Given the description of an element on the screen output the (x, y) to click on. 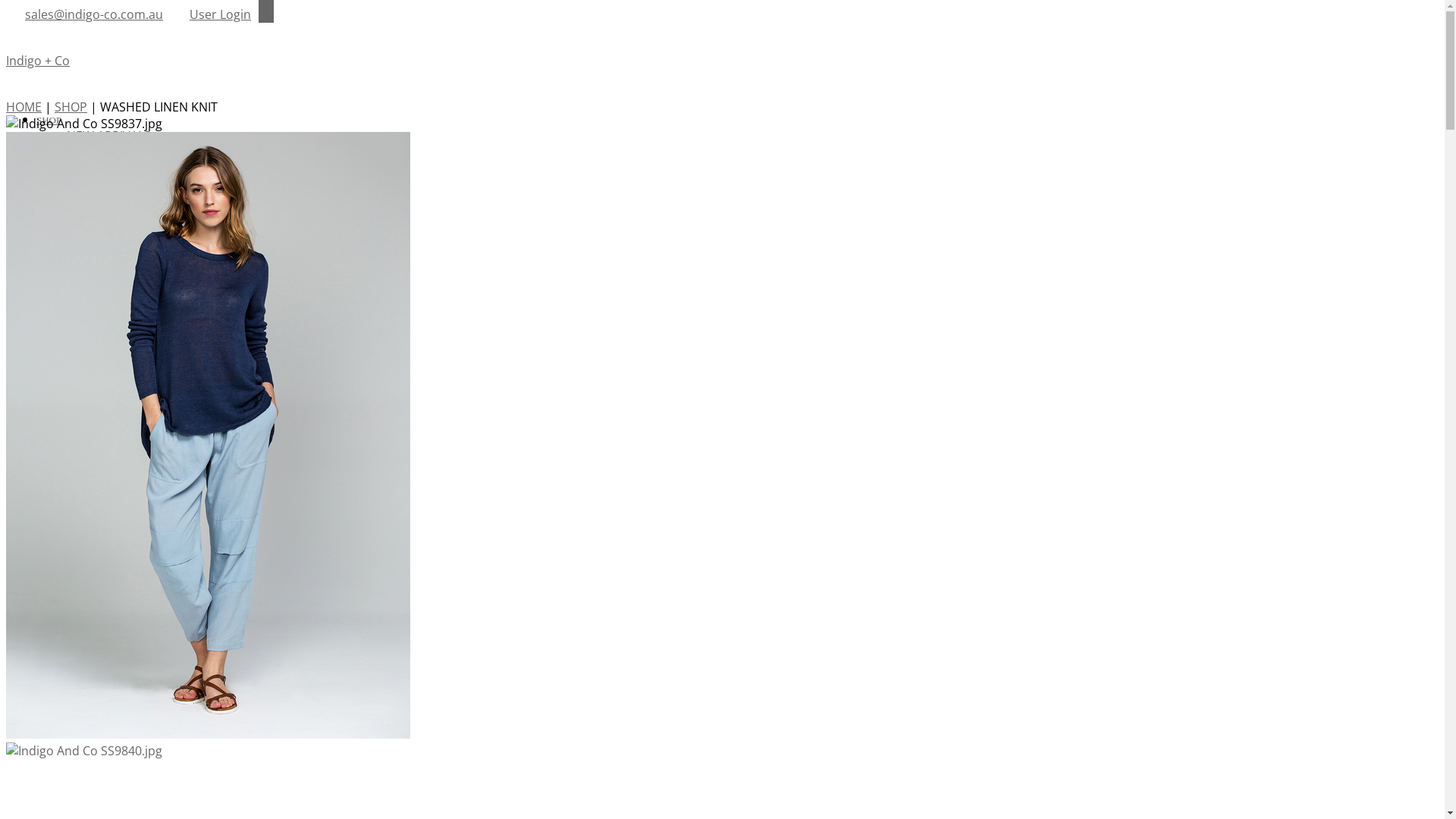
CONTACT Element type: text (58, 368)
ESSENTIALS Element type: text (99, 252)
DRESSES Element type: text (91, 168)
User Login Element type: text (220, 14)
ALL Element type: text (76, 152)
SALE Element type: text (80, 268)
Shop0 Element type: text (48, 385)
PROFILE Element type: text (56, 335)
HOME Element type: text (23, 106)
KNITS Element type: text (83, 202)
Indigo + Co Element type: text (37, 60)
WE LOVE Element type: text (58, 352)
SHOP Element type: text (70, 106)
TOPS Element type: text (81, 185)
SUMMER 20 Element type: text (100, 302)
CAMPAIGNS Element type: text (64, 285)
sales@indigo-co.com.au Element type: text (94, 14)
BOTTOMS Element type: text (94, 218)
NEW ARRIVALS Element type: text (108, 135)
WINTER 21 Element type: text (97, 318)
SHOP Element type: text (48, 118)
JACKETS Element type: text (89, 235)
